Given the description of an element on the screen output the (x, y) to click on. 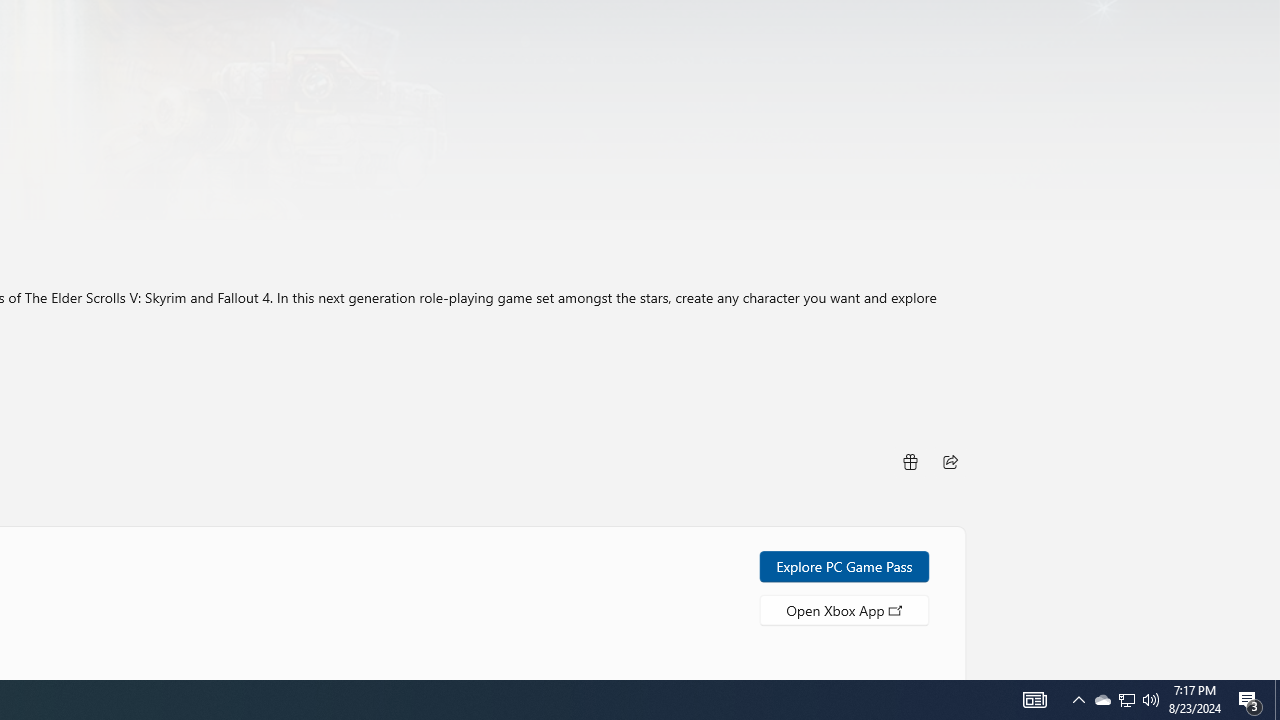
Buy as gift (909, 460)
Open Xbox App (844, 609)
Share (950, 460)
Explore PC Game Pass (844, 565)
